Given the description of an element on the screen output the (x, y) to click on. 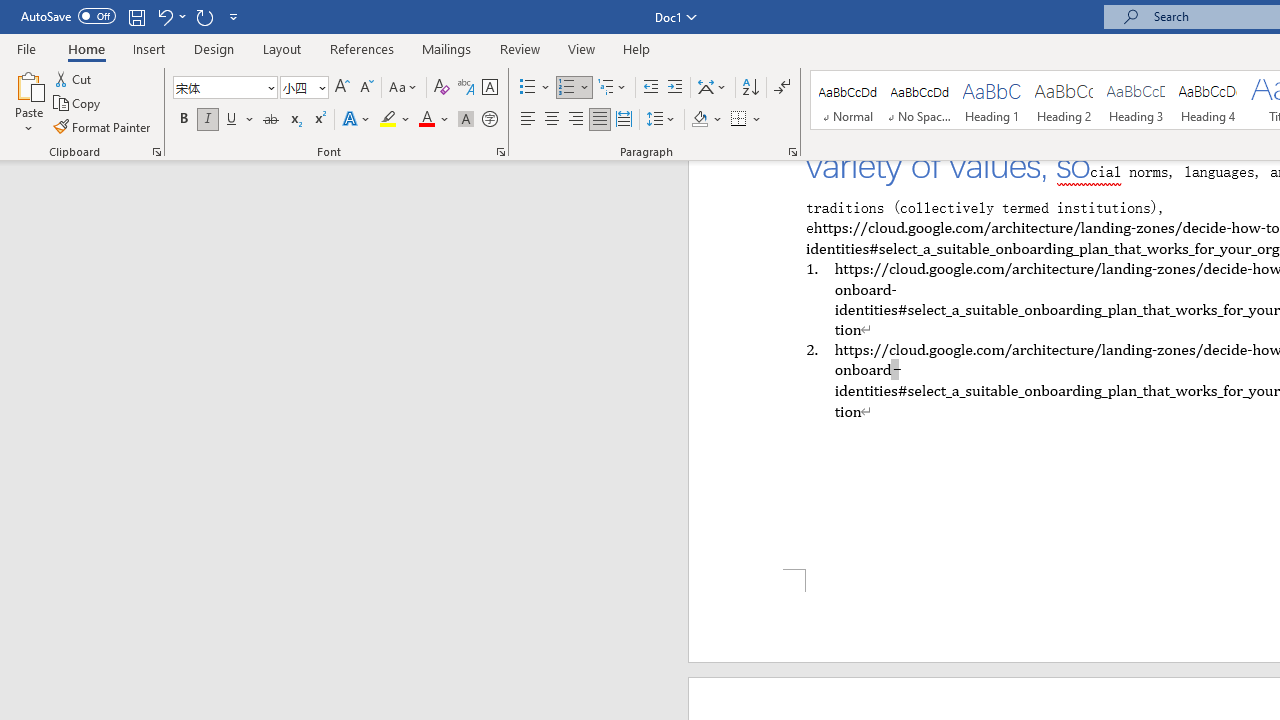
Repeat Style (204, 15)
